Given the description of an element on the screen output the (x, y) to click on. 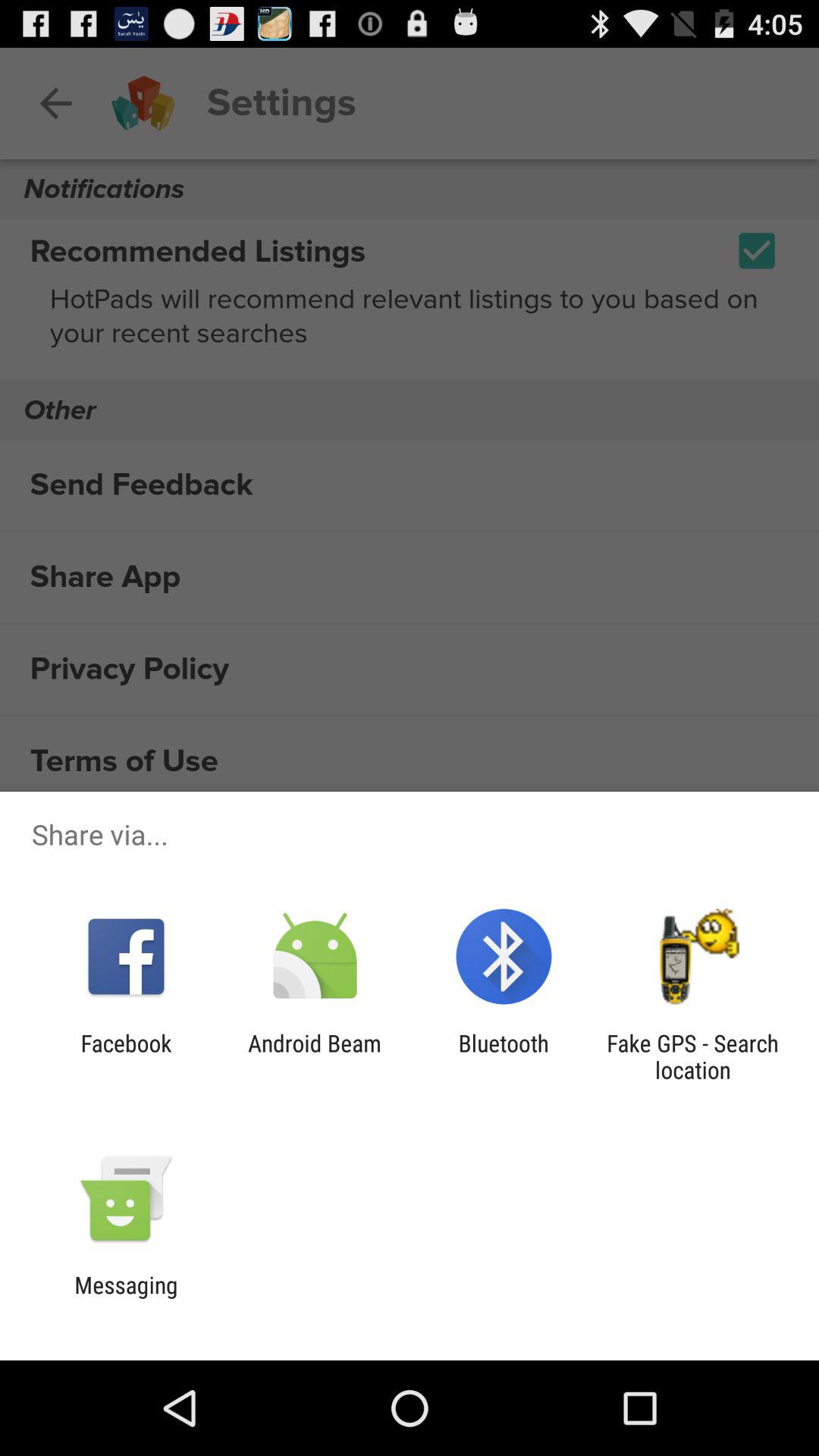
turn off the icon next to bluetooth item (692, 1056)
